Given the description of an element on the screen output the (x, y) to click on. 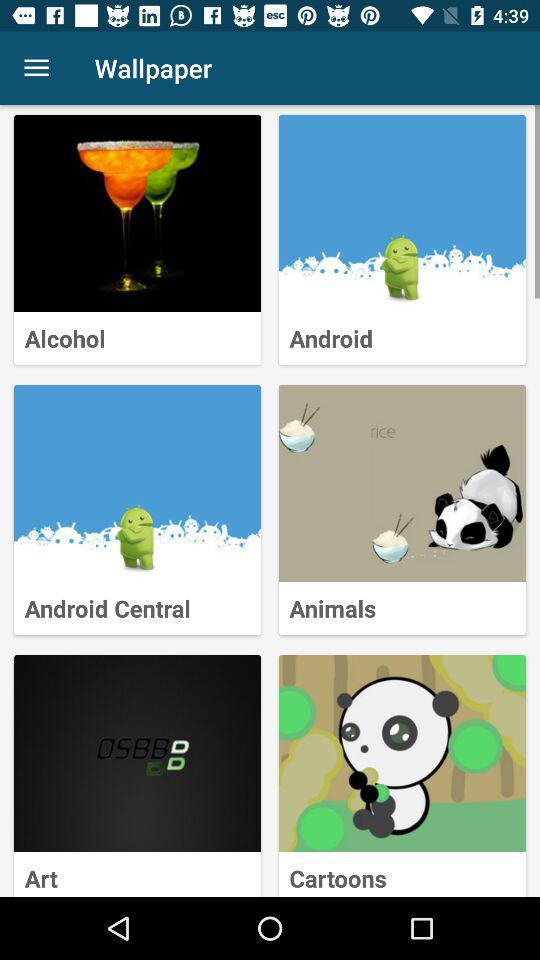
drill down into animals tile (402, 483)
